Given the description of an element on the screen output the (x, y) to click on. 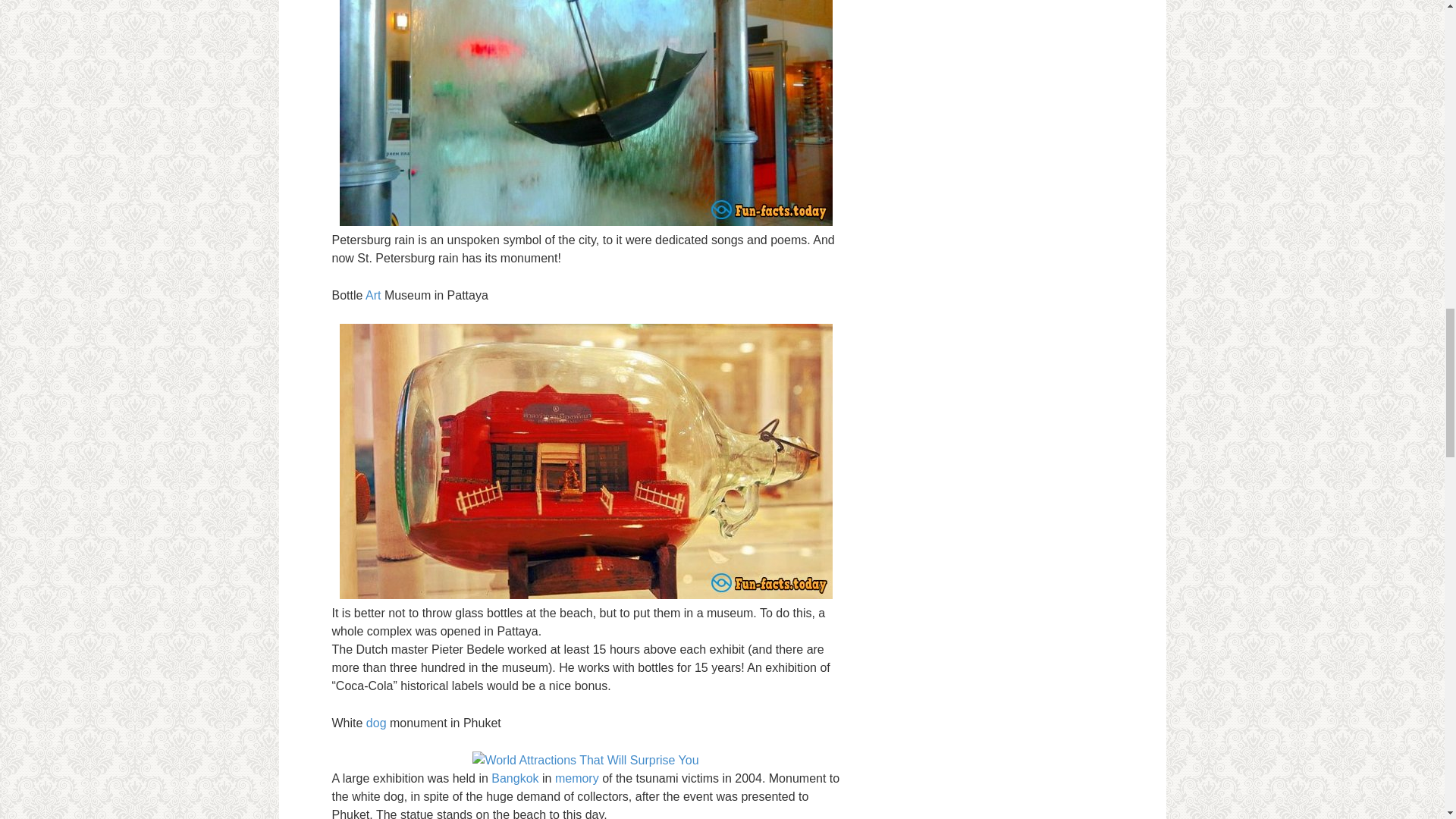
World Attractions That Will Surprise You (585, 113)
The Science of Memory: How We Remember and Why We Forget (576, 778)
World Attractions That Will Surprise You (584, 760)
Bangkok Attractions for Singaporean Tourists in 2024 (515, 778)
The Evolution of Art Throughout History (372, 295)
memory (576, 778)
Bangkok (515, 778)
Art (372, 295)
The History of Animal Domestication (376, 722)
